Given the description of an element on the screen output the (x, y) to click on. 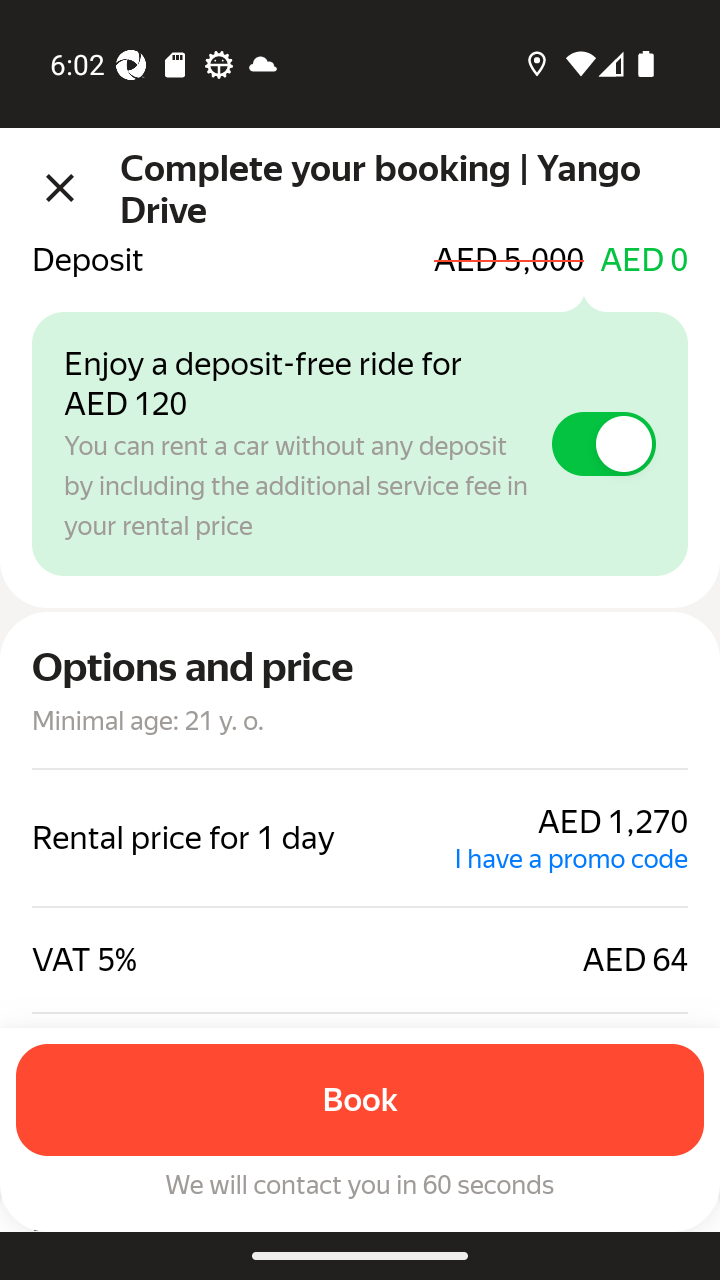
Close Complete your booking | Yango Drive (360, 188)
Close (60, 188)
I have a promo code (571, 861)
Rent a сar (359, 983)
Book (359, 1101)
